Given the description of an element on the screen output the (x, y) to click on. 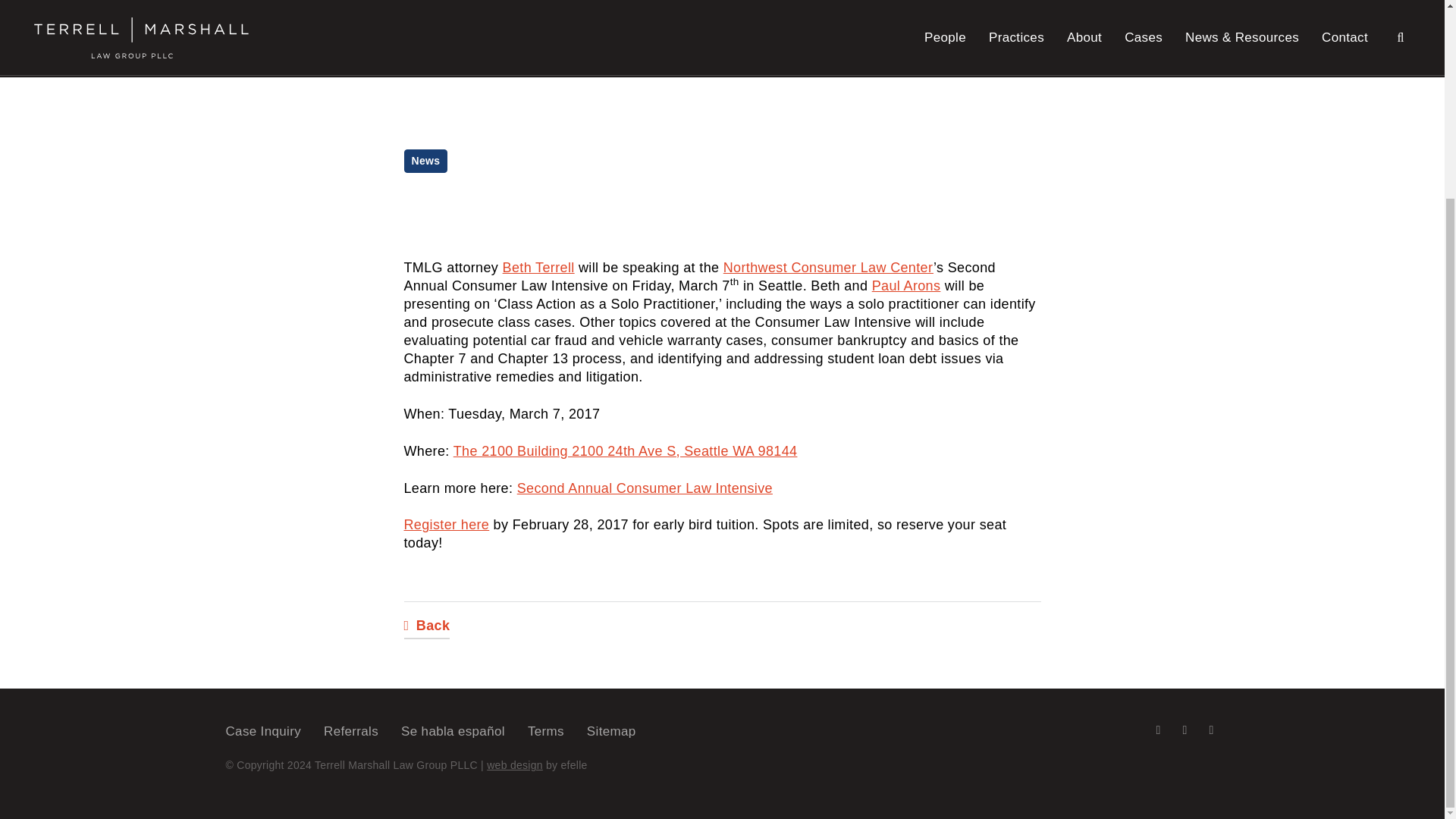
law firm website design (514, 765)
News (424, 160)
Beth Terrell (538, 267)
